Given the description of an element on the screen output the (x, y) to click on. 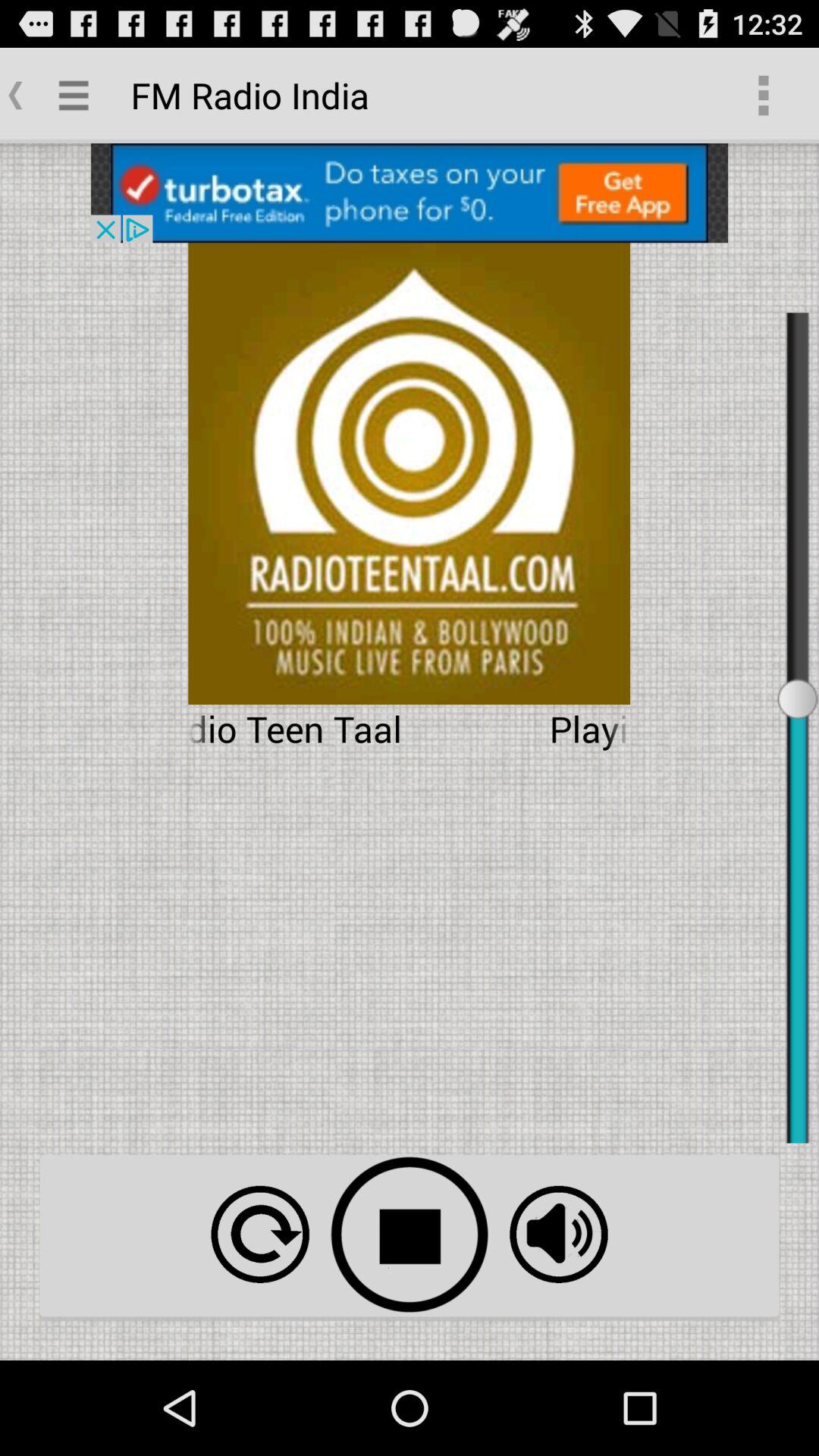
terms and services includes links (558, 1234)
